Given the description of an element on the screen output the (x, y) to click on. 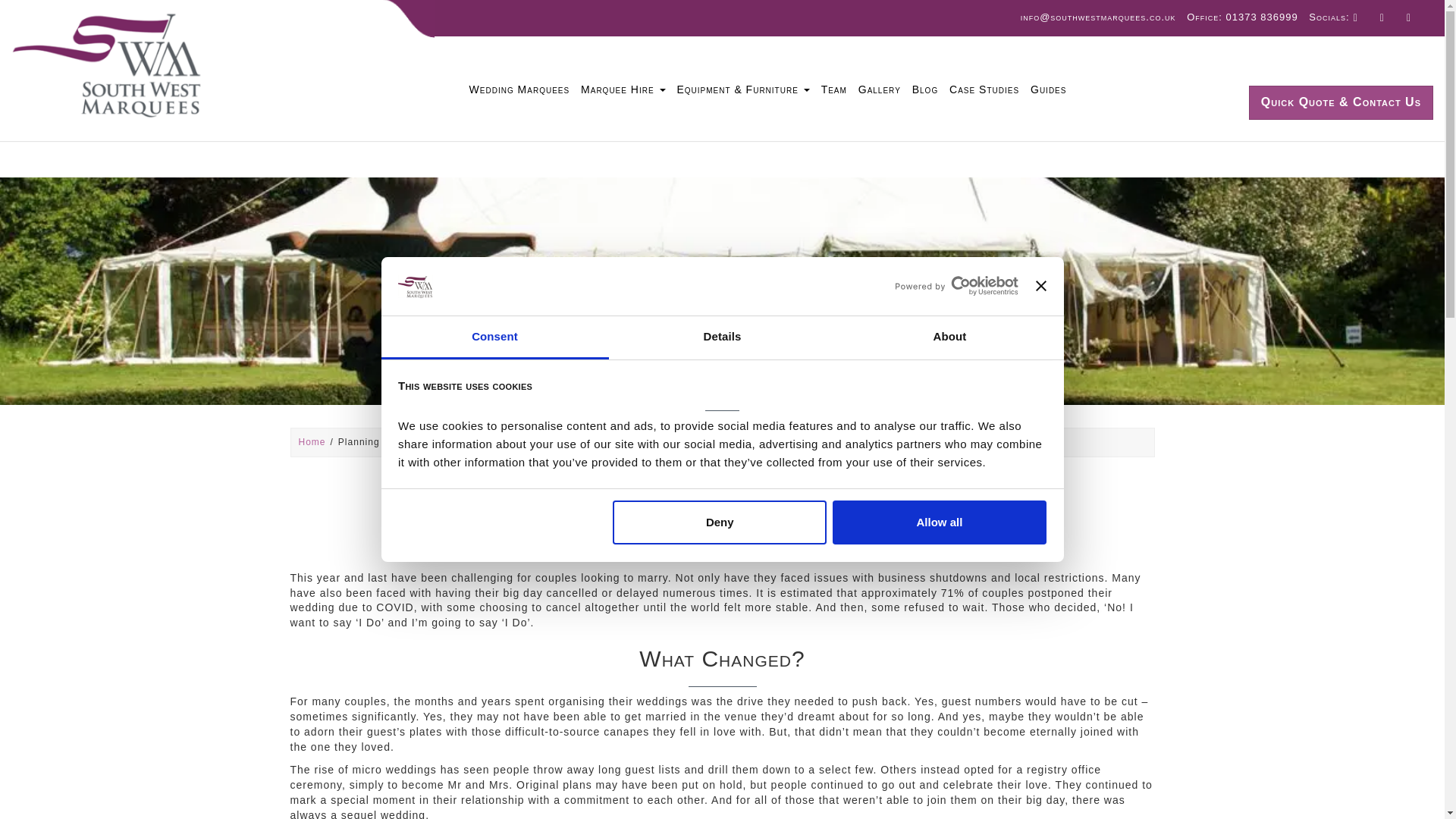
01373 836999 (1261, 16)
Details (721, 337)
Consent (494, 337)
Marquee Hire (622, 89)
Allow all (939, 522)
About (948, 337)
Wedding Marquees (520, 89)
Deny (719, 522)
